Given the description of an element on the screen output the (x, y) to click on. 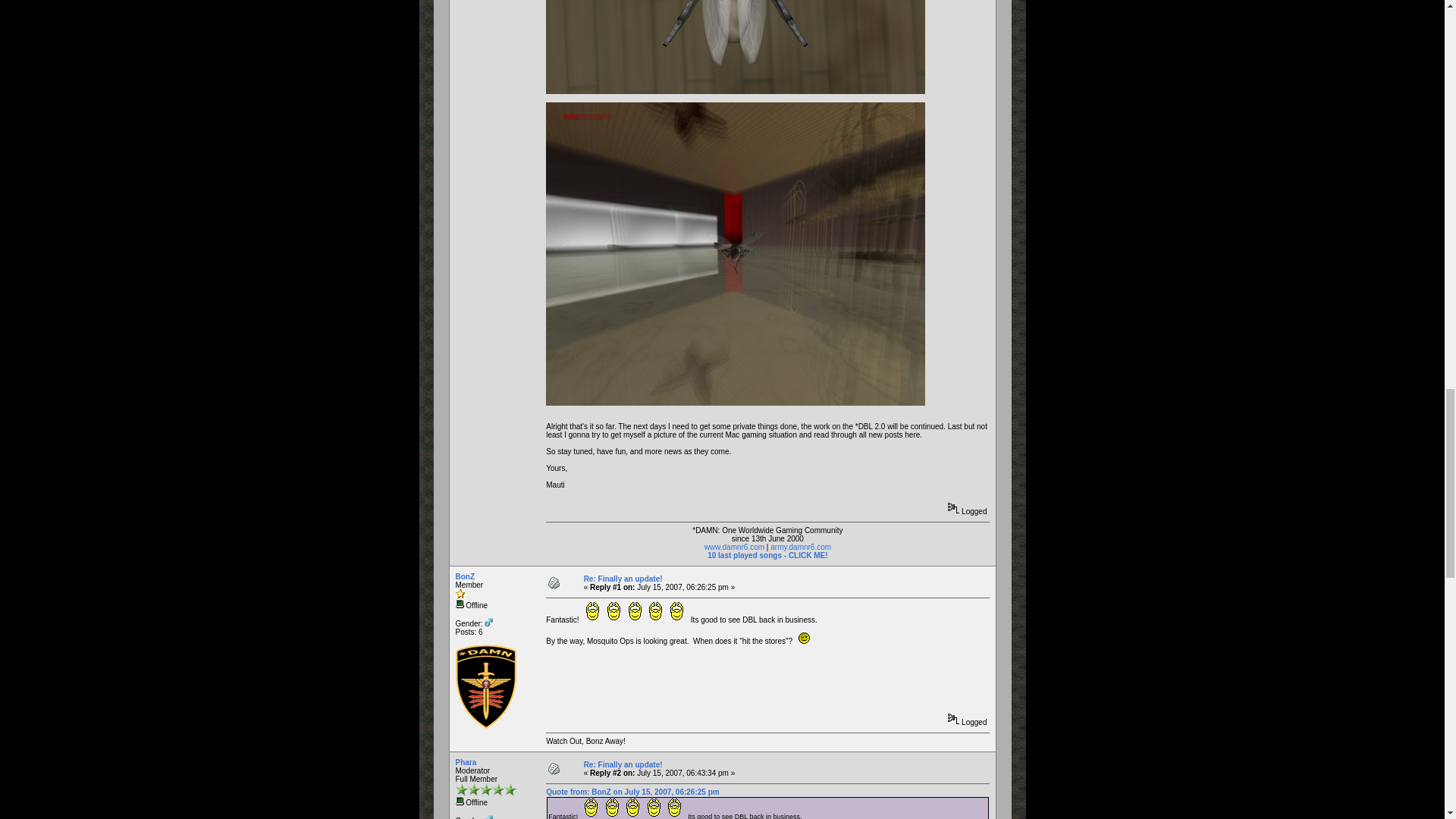
View the profile of Phara (465, 762)
View the profile of BonZ (464, 576)
